Given the description of an element on the screen output the (x, y) to click on. 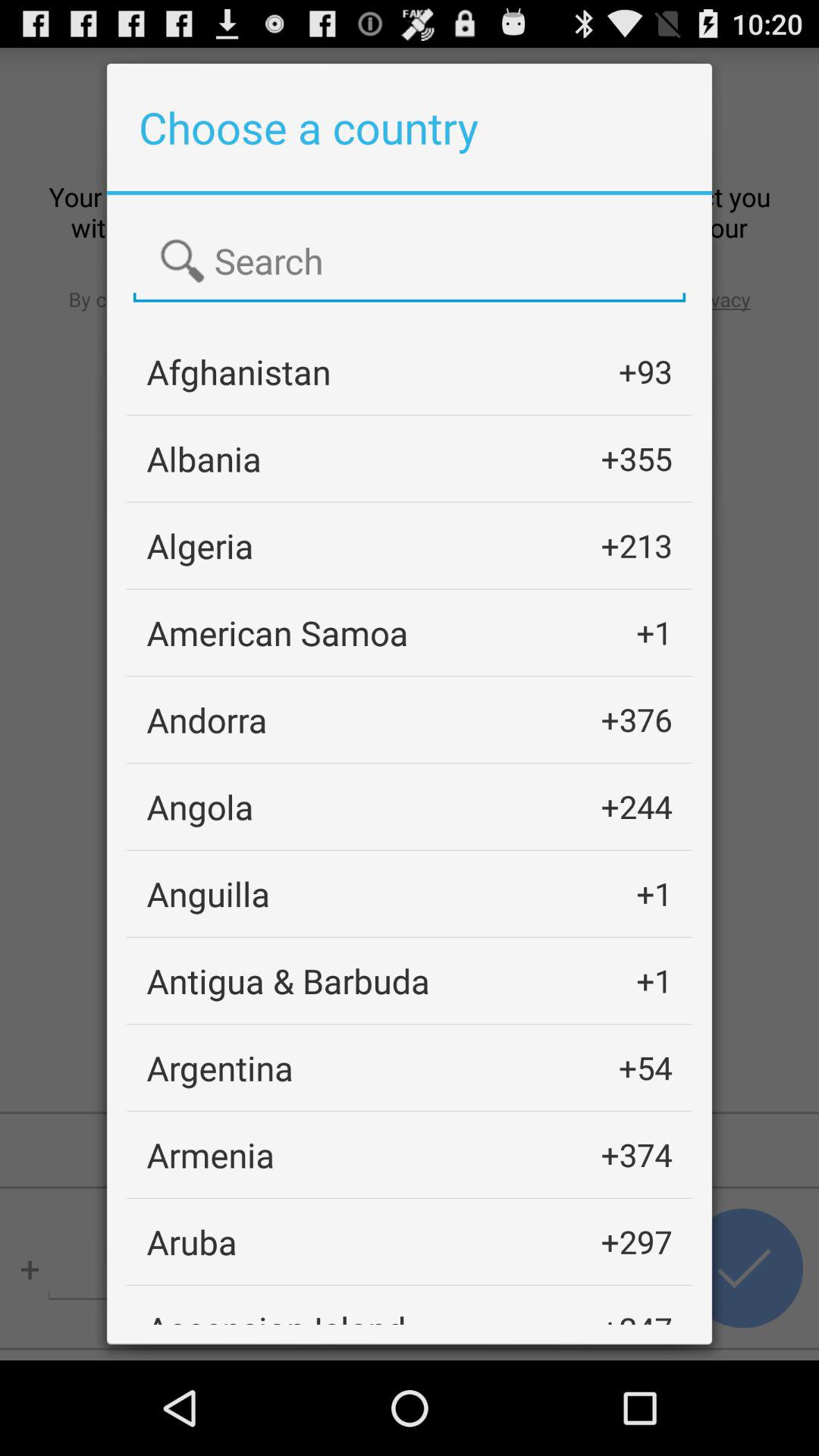
turn off icon below the armenia app (191, 1241)
